Given the description of an element on the screen output the (x, y) to click on. 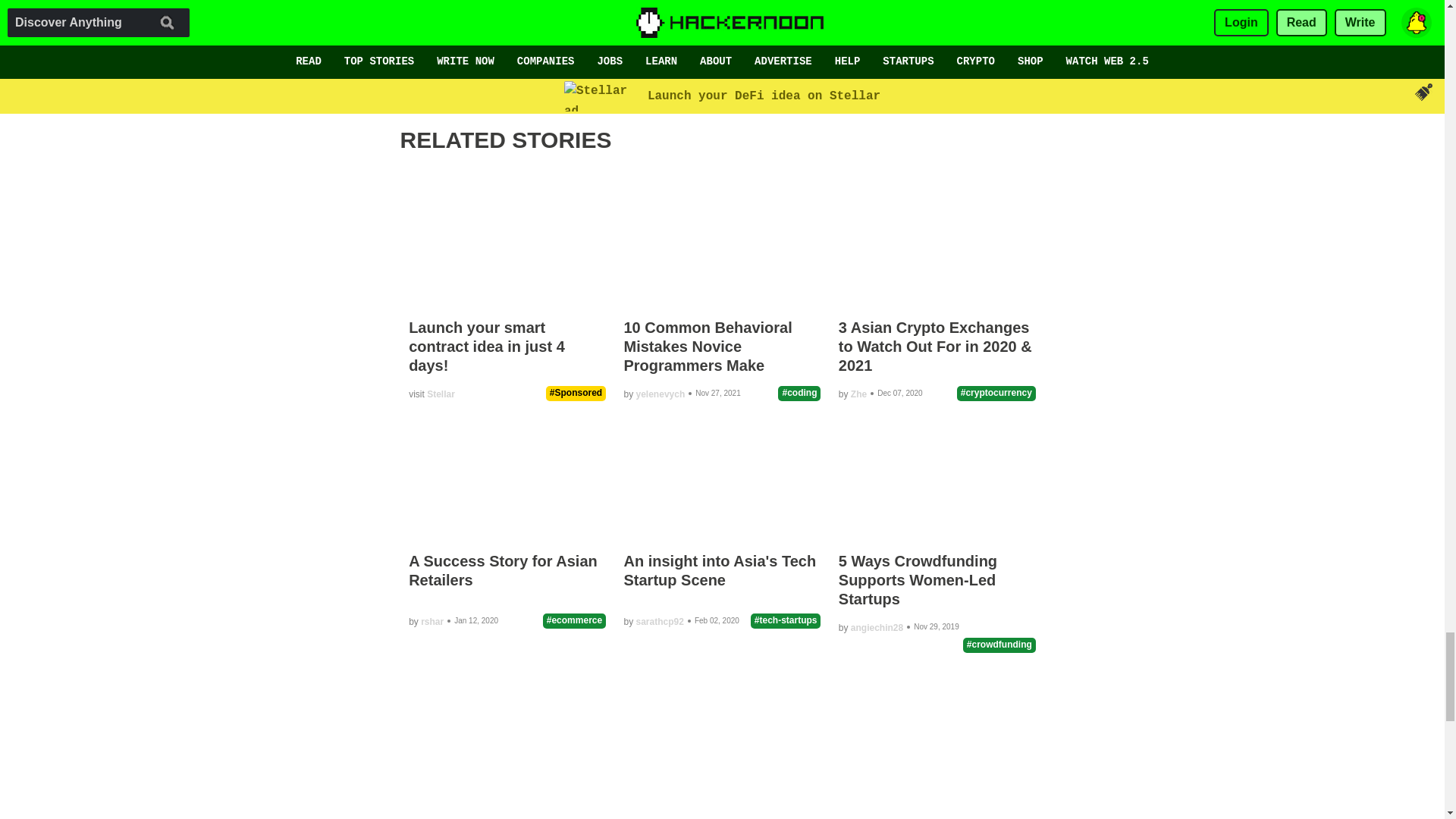
yelenevych (475, 45)
